Given the description of an element on the screen output the (x, y) to click on. 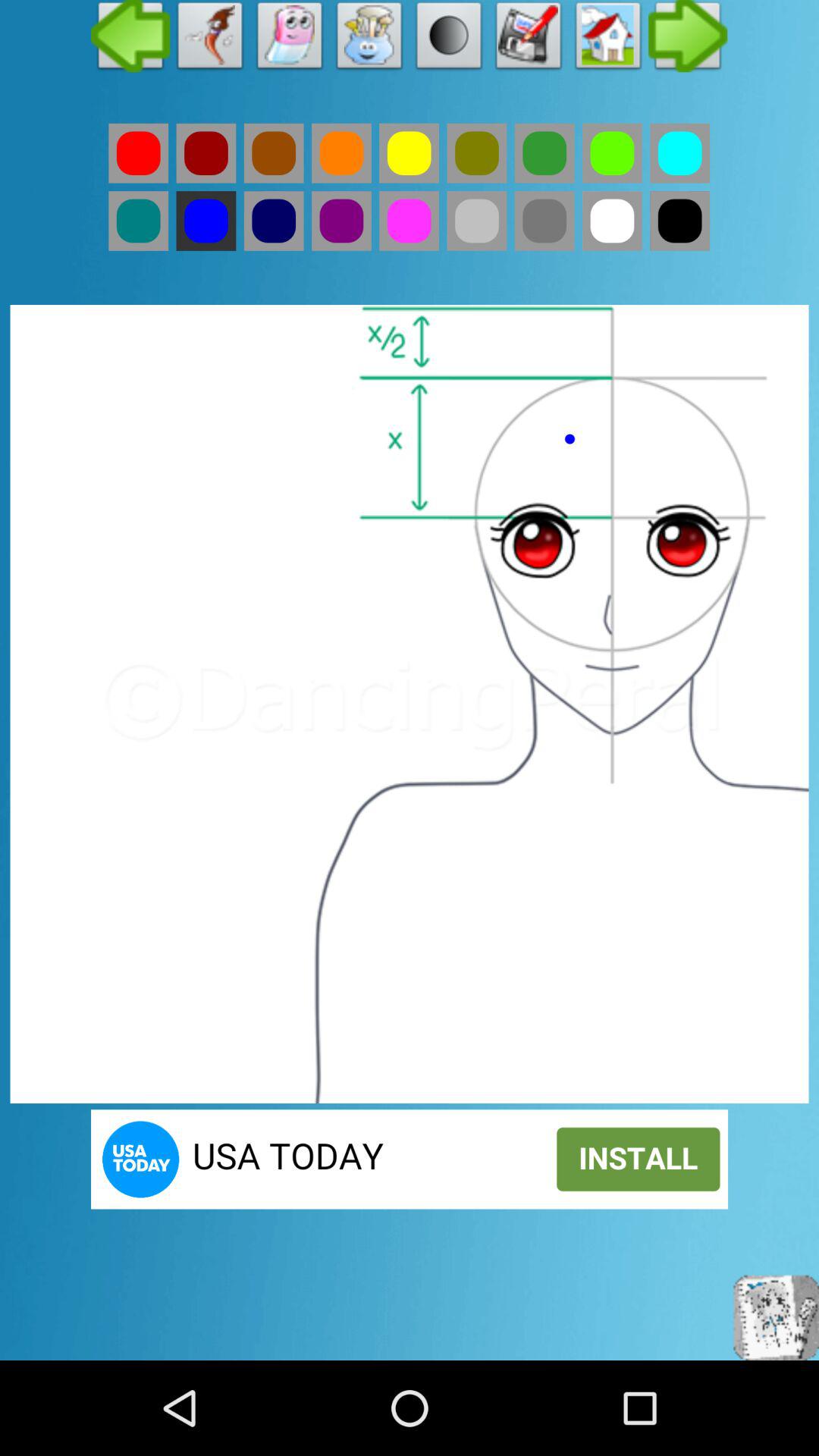
open brush menu (369, 39)
